Given the description of an element on the screen output the (x, y) to click on. 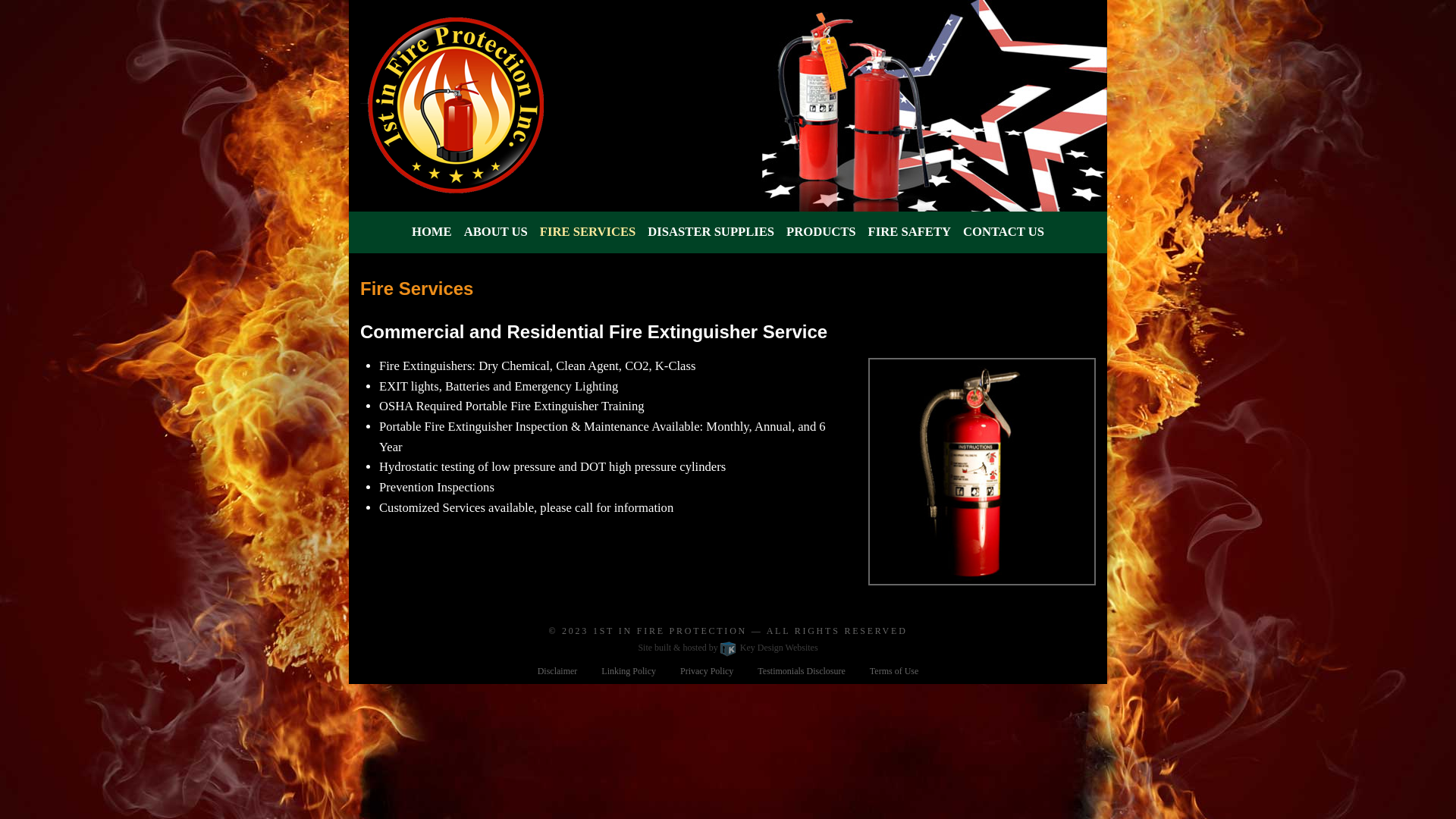
FIRE SERVICES Element type: text (587, 232)
1ST IN FIRE PROTECTION Element type: text (669, 630)
ABOUT US Element type: text (495, 232)
PRODUCTS Element type: text (820, 232)
Linking Policy Element type: text (628, 671)
HOME Element type: text (431, 232)
Privacy Policy Element type: text (706, 671)
Extinguisher Element type: hover (981, 471)
Site built & hosted by  Key Design Websites Element type: text (727, 647)
CONTACT US Element type: text (1003, 232)
Testimonials Disclosure Element type: text (800, 671)
Terms of Use Element type: text (893, 671)
FIRE SAFETY Element type: text (909, 232)
DISASTER SUPPLIES Element type: text (710, 232)
Disclaimer Element type: text (557, 671)
